Given the description of an element on the screen output the (x, y) to click on. 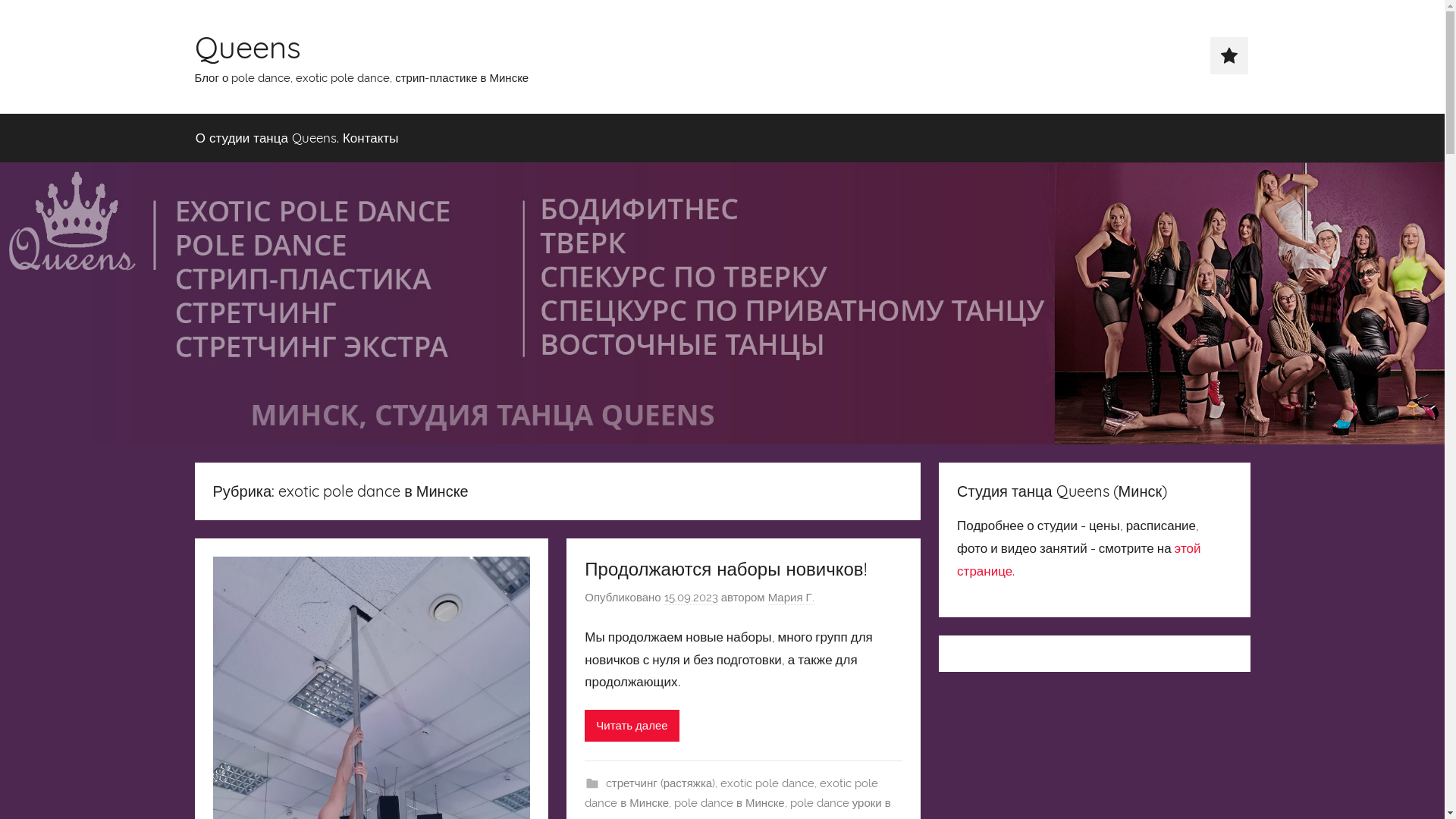
15.09.2023 Element type: text (691, 597)
Queens Element type: text (247, 46)
exotic pole dance Element type: text (767, 783)
